Given the description of an element on the screen output the (x, y) to click on. 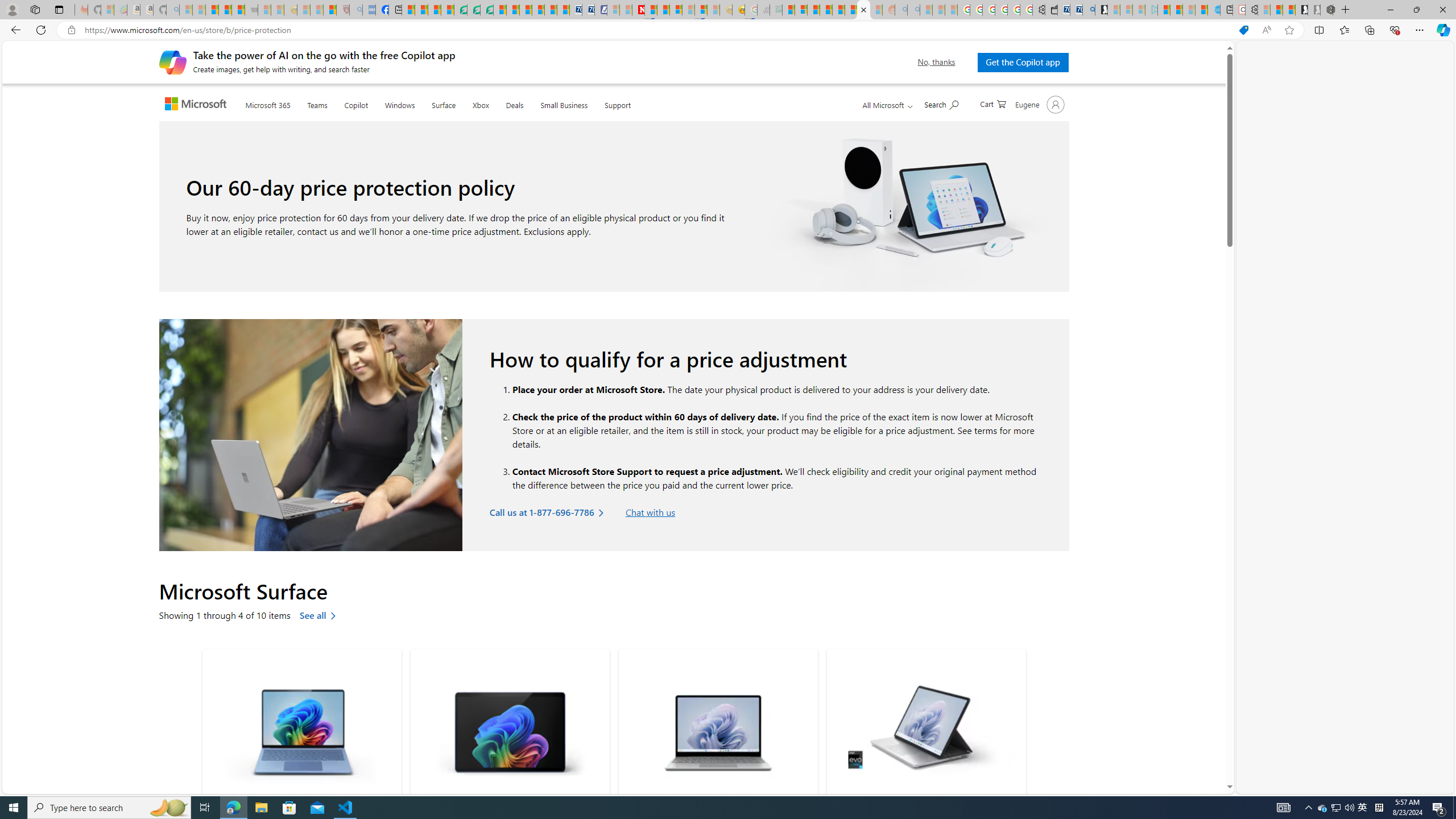
New Report Confirms 2023 Was Record Hot | Watch (237, 9)
Surface (443, 103)
Robert H. Shmerling, MD - Harvard Health - Sleeping (342, 9)
World - MSN (434, 9)
Play Free Online Games | Games from Microsoft Start (1301, 9)
Windows (399, 103)
Call us at 1-877-696-7786 (549, 512)
See all Microsoft Surface (320, 614)
